Given the description of an element on the screen output the (x, y) to click on. 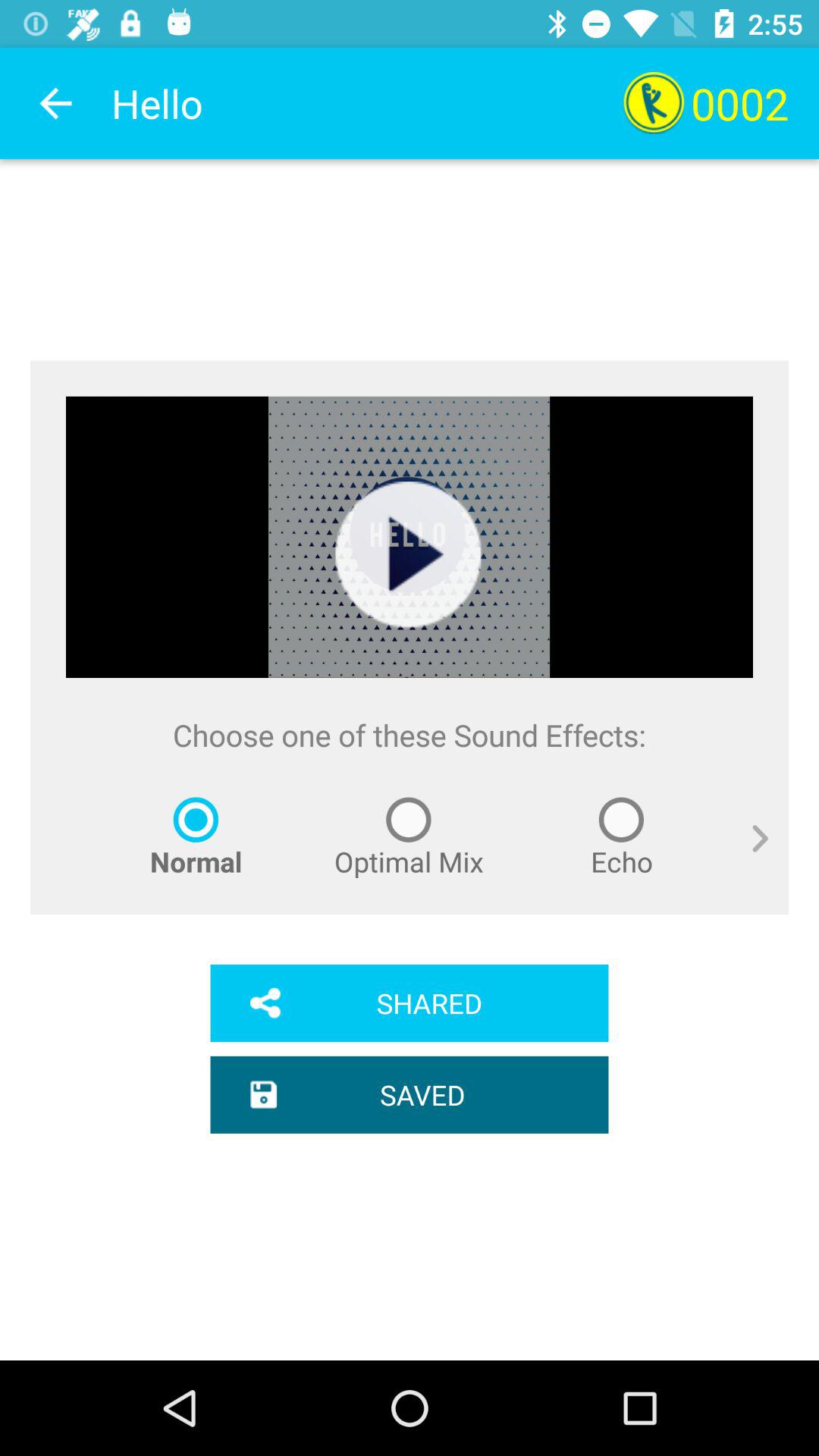
scroll to saved item (409, 1094)
